Given the description of an element on the screen output the (x, y) to click on. 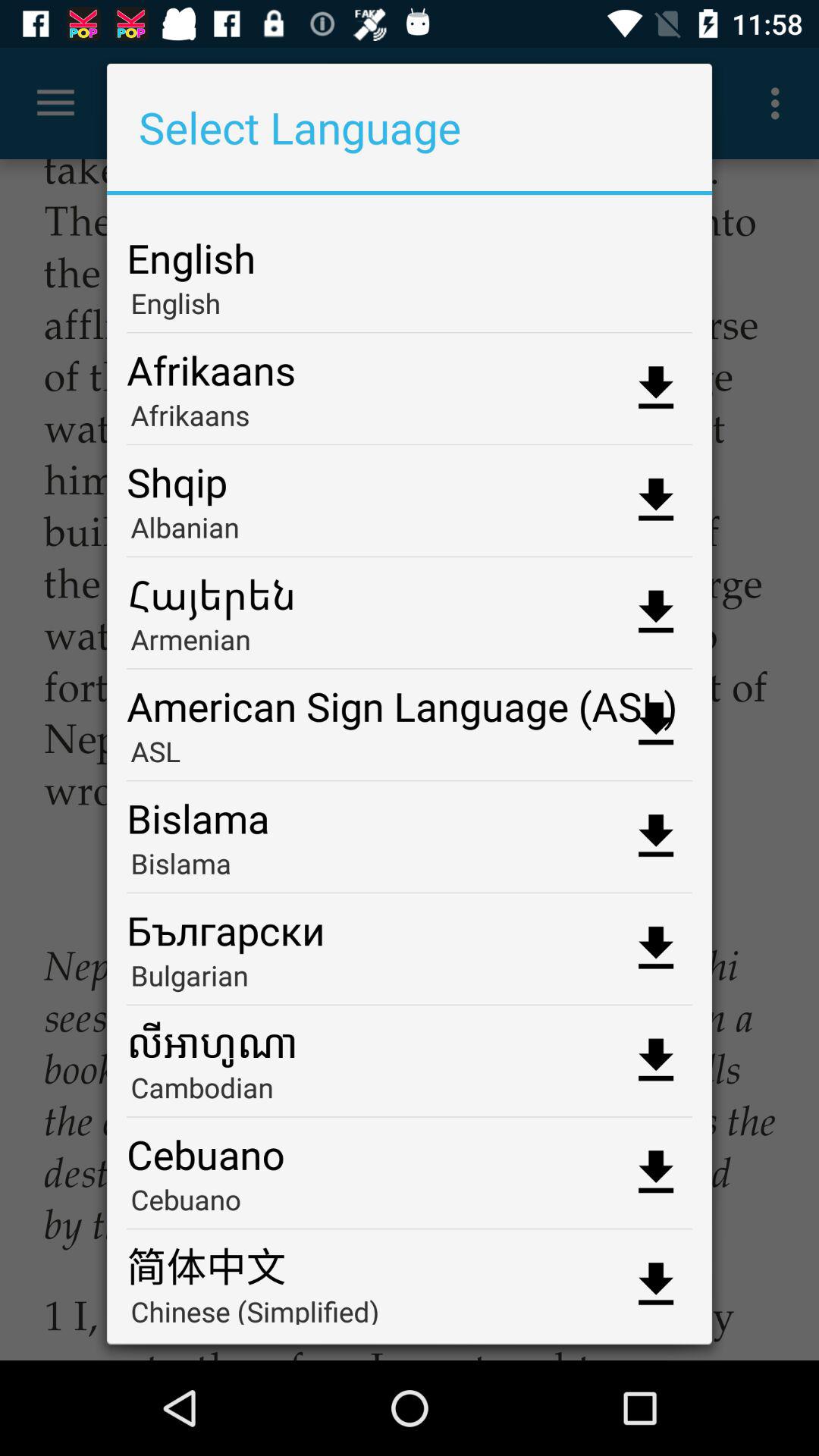
tap the item above the armenian icon (409, 588)
